Given the description of an element on the screen output the (x, y) to click on. 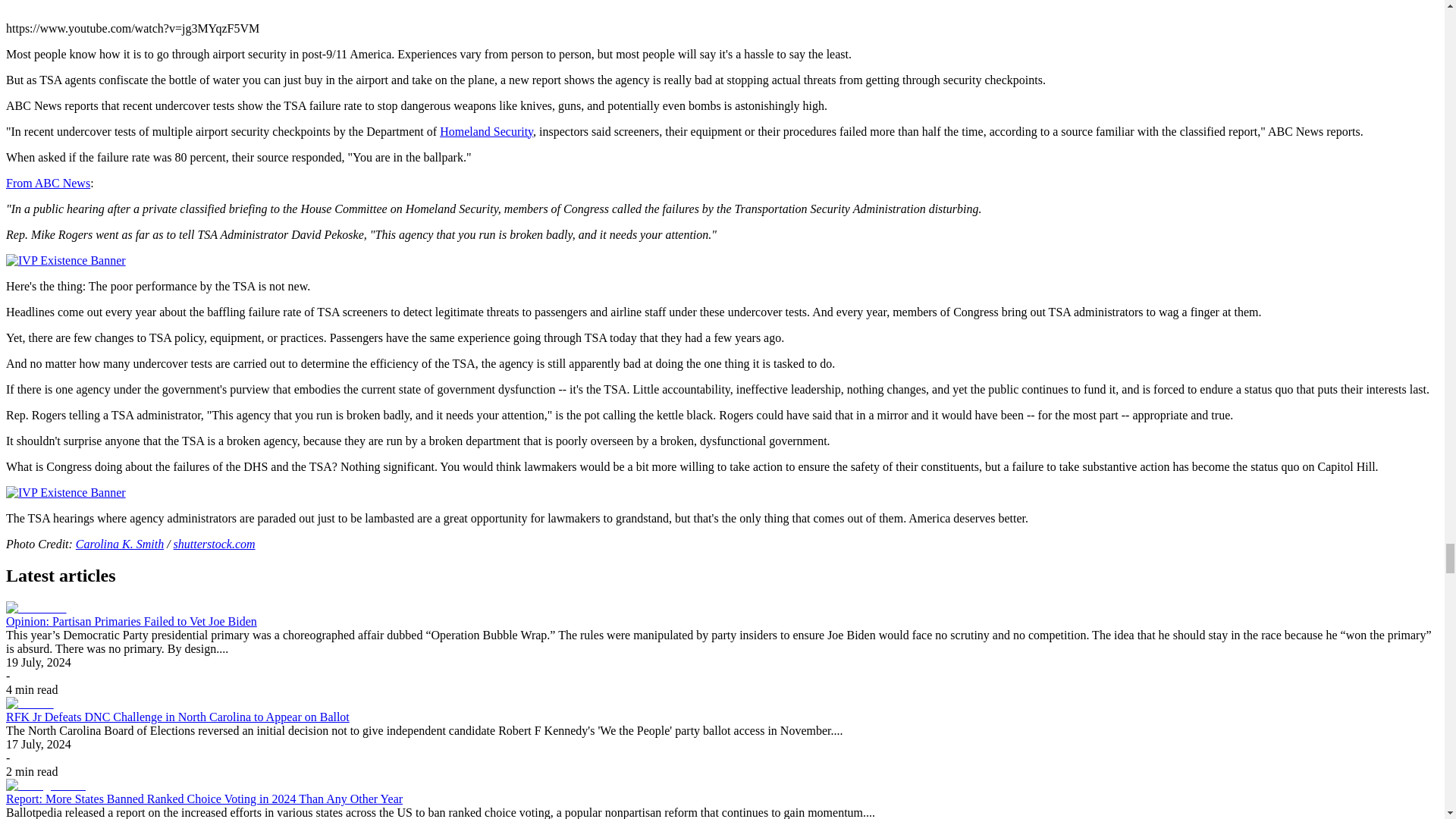
Carolina K. Smith (119, 543)
Opinion: Partisan Primaries Failed to Vet Joe Biden (131, 621)
From ABC News (47, 182)
shutterstock.com (214, 543)
Homeland Security (485, 131)
